Given the description of an element on the screen output the (x, y) to click on. 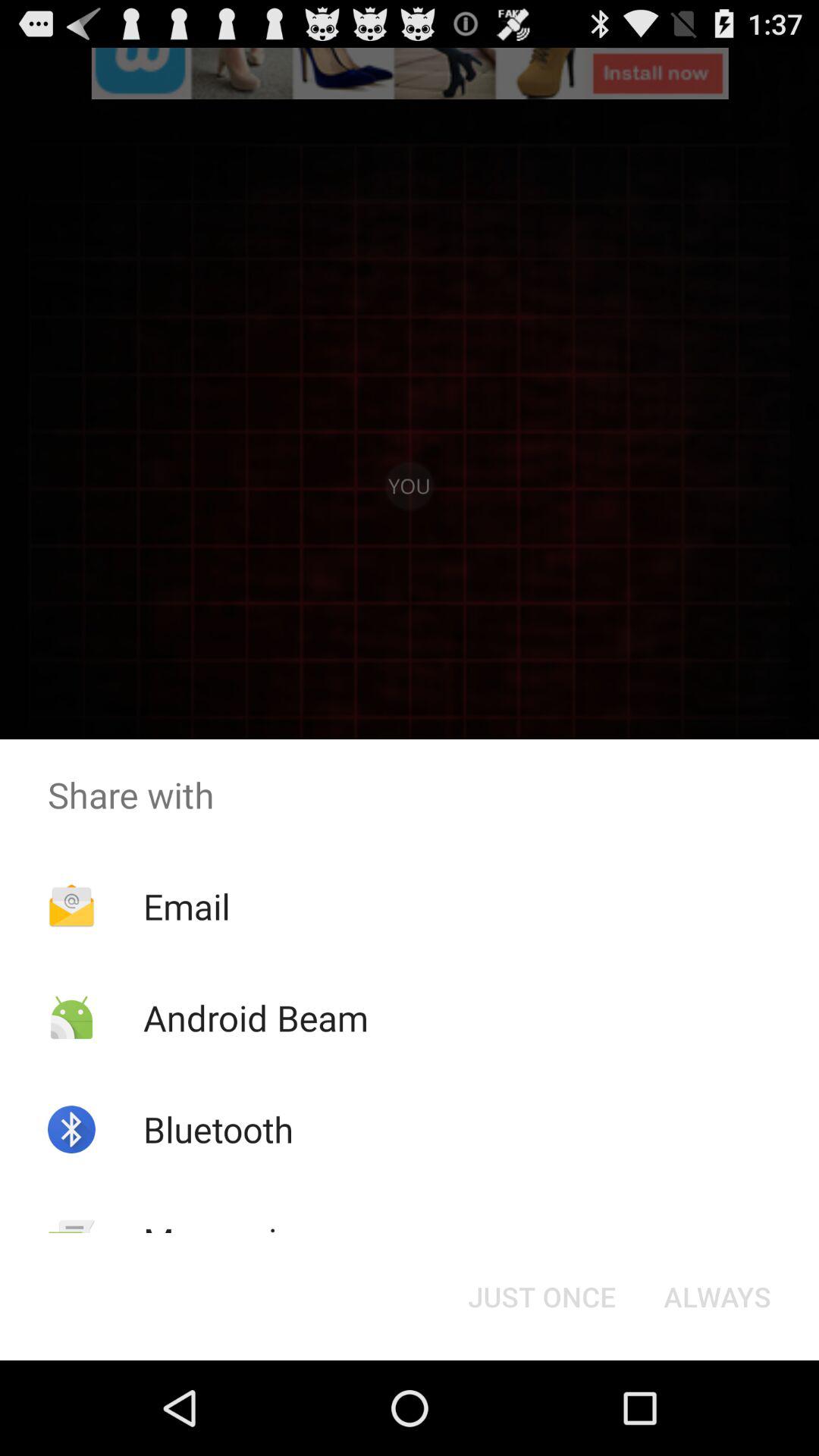
launch the app above the bluetooth icon (255, 1017)
